Given the description of an element on the screen output the (x, y) to click on. 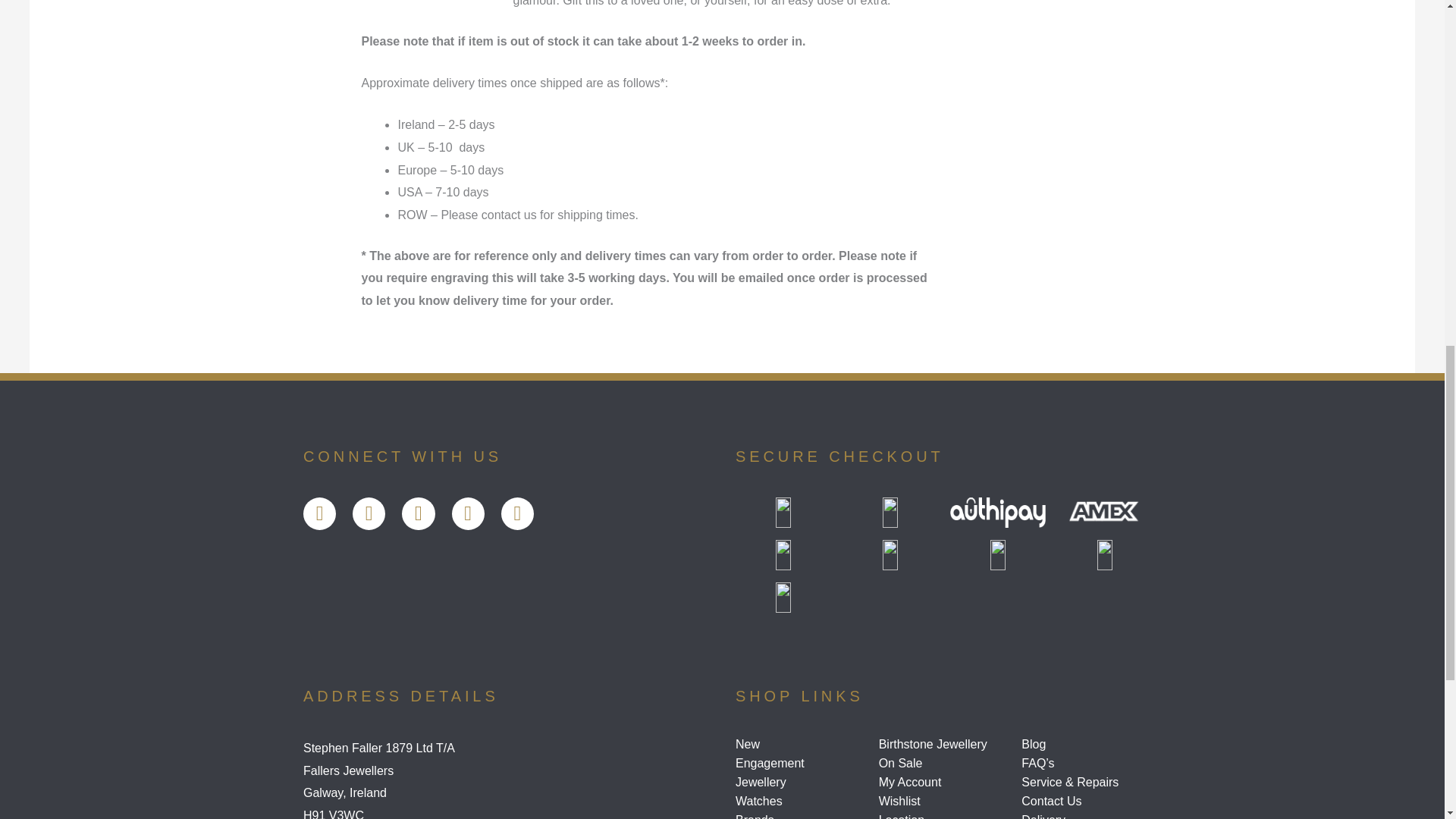
New (800, 744)
Pinterest (517, 513)
My Account (944, 782)
Facebook-f (319, 513)
Engagement (800, 763)
Instagram (467, 513)
Birthstone Jewellery (944, 744)
Watches (800, 801)
Twitter (368, 513)
On Sale (944, 763)
Youtube (417, 513)
Wishlist (944, 801)
Jewellery (800, 782)
Brands (800, 816)
